Given the description of an element on the screen output the (x, y) to click on. 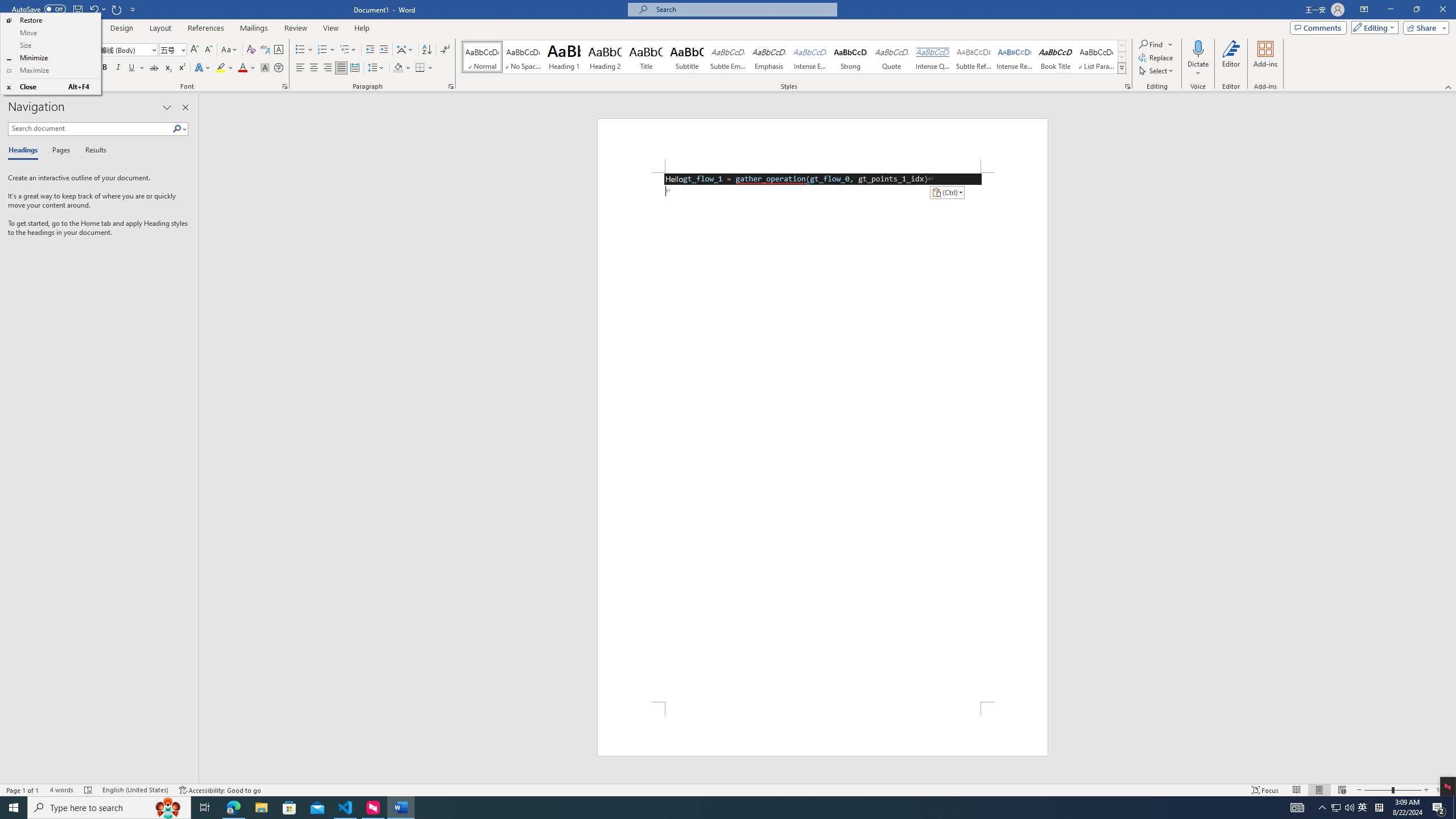
Heading 1 (564, 56)
